Given the description of an element on the screen output the (x, y) to click on. 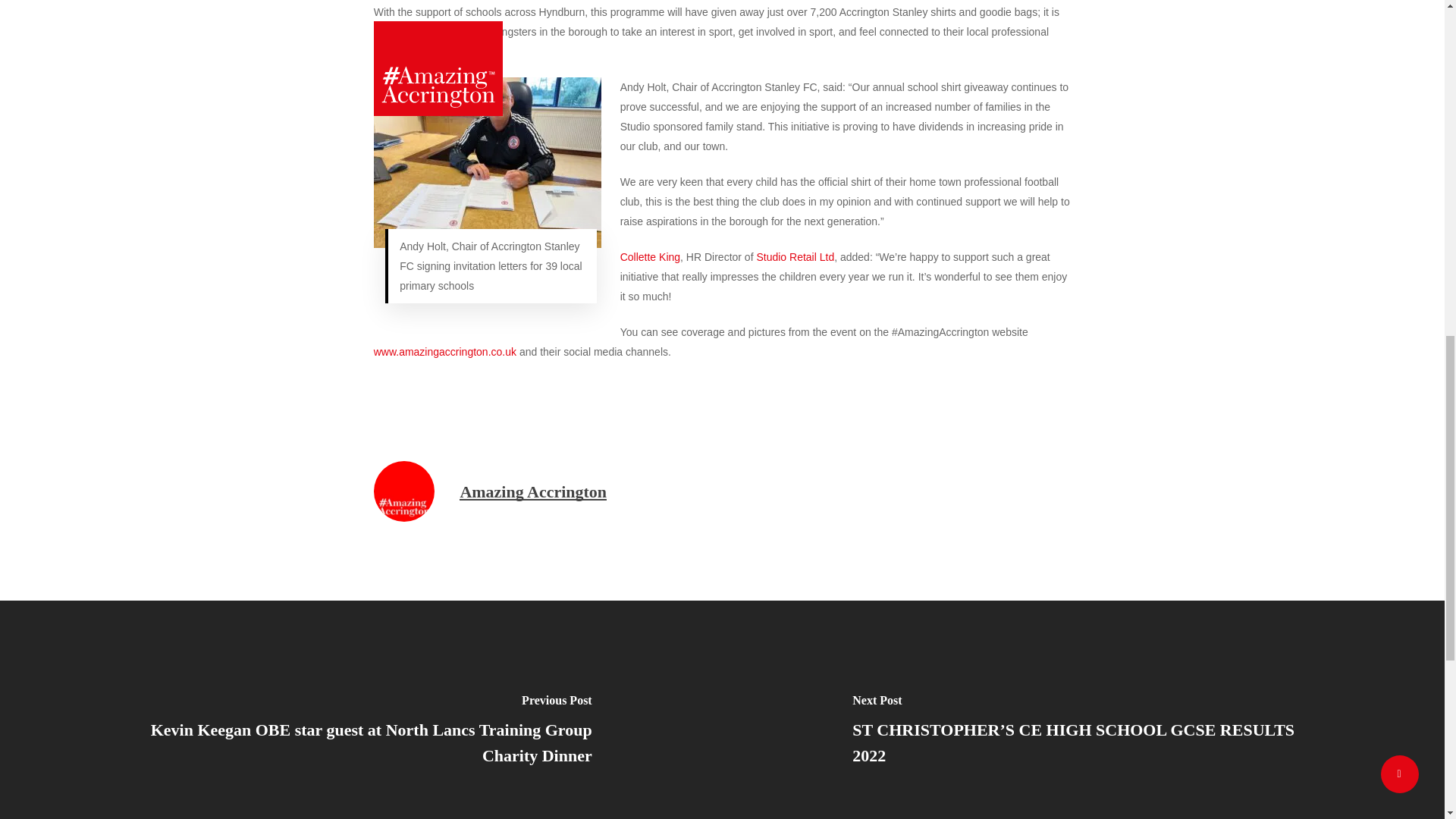
www.amazingaccrington.co.uk (445, 351)
Amazing Accrington (533, 491)
Collette King (649, 256)
Studio Retail Ltd (794, 256)
